Given the description of an element on the screen output the (x, y) to click on. 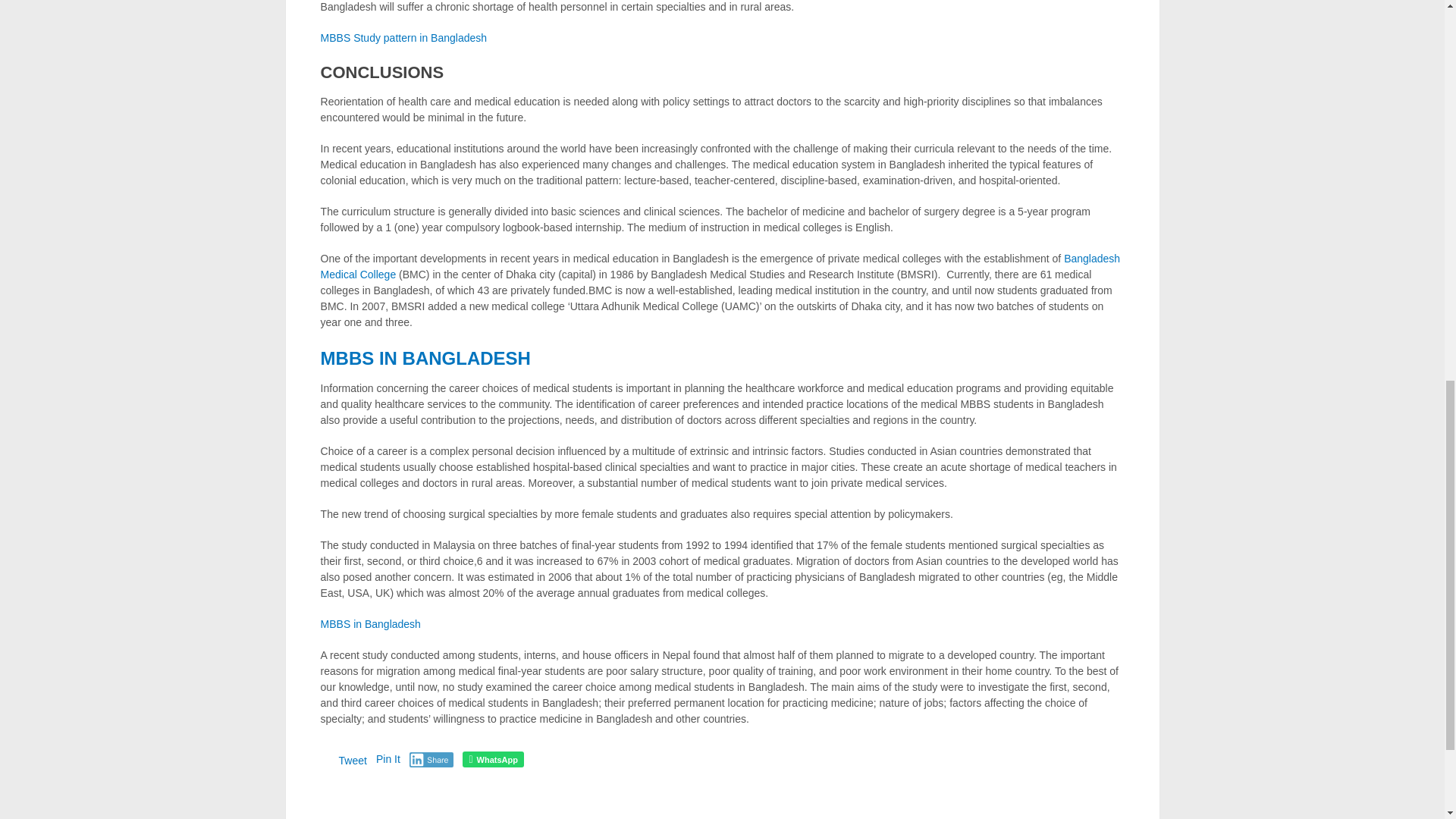
MBBS Study pattern in Bangladesh (403, 37)
Bangladesh Medical College (720, 266)
